Given the description of an element on the screen output the (x, y) to click on. 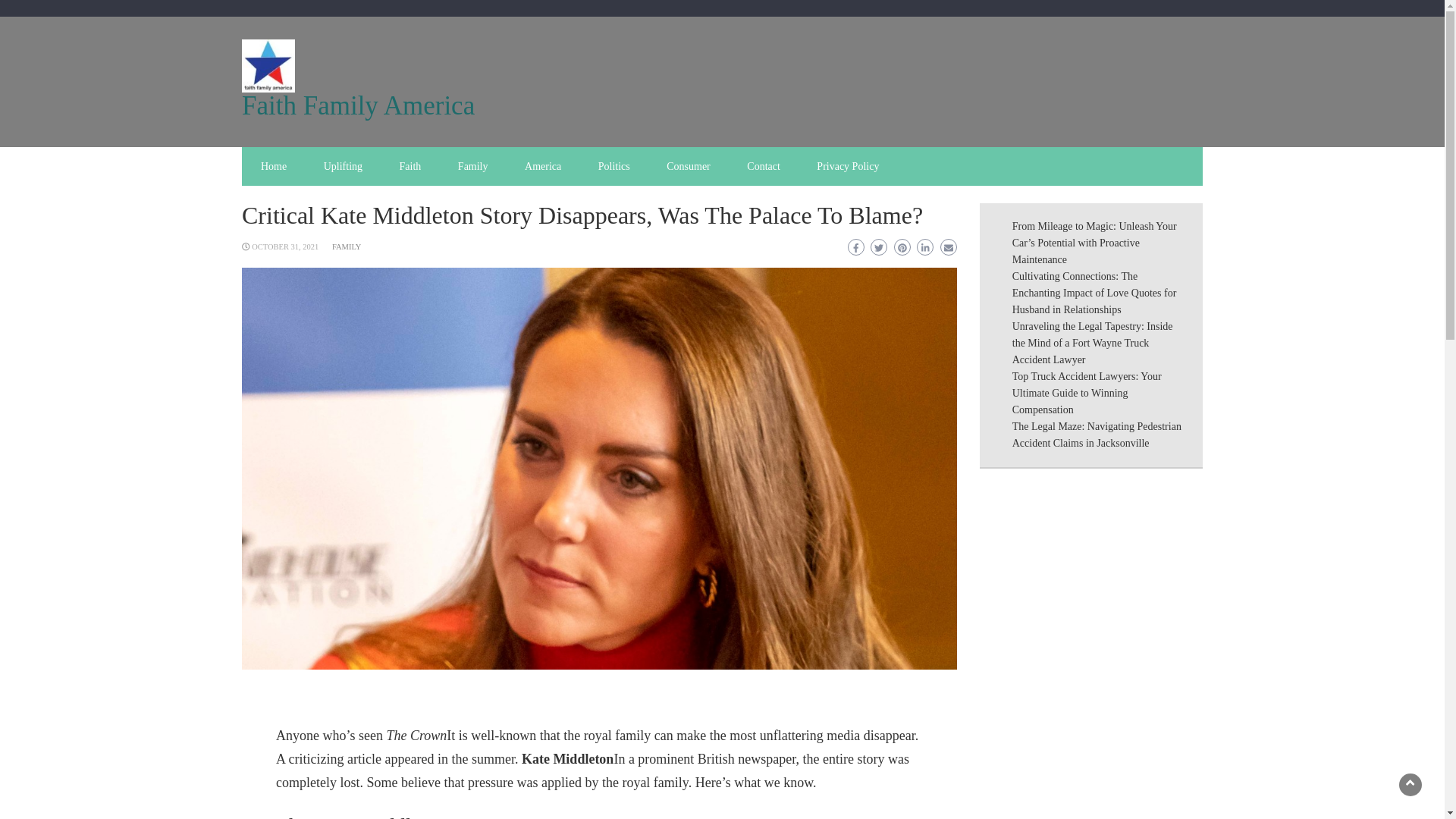
Privacy Policy (847, 166)
OCTOBER 31, 2021 (284, 246)
Contact (763, 166)
America (542, 166)
Politics (614, 166)
Home (273, 166)
Faith (410, 166)
Family (472, 166)
Uplifting (342, 166)
Faith Family America (357, 105)
FAMILY (346, 246)
